Given the description of an element on the screen output the (x, y) to click on. 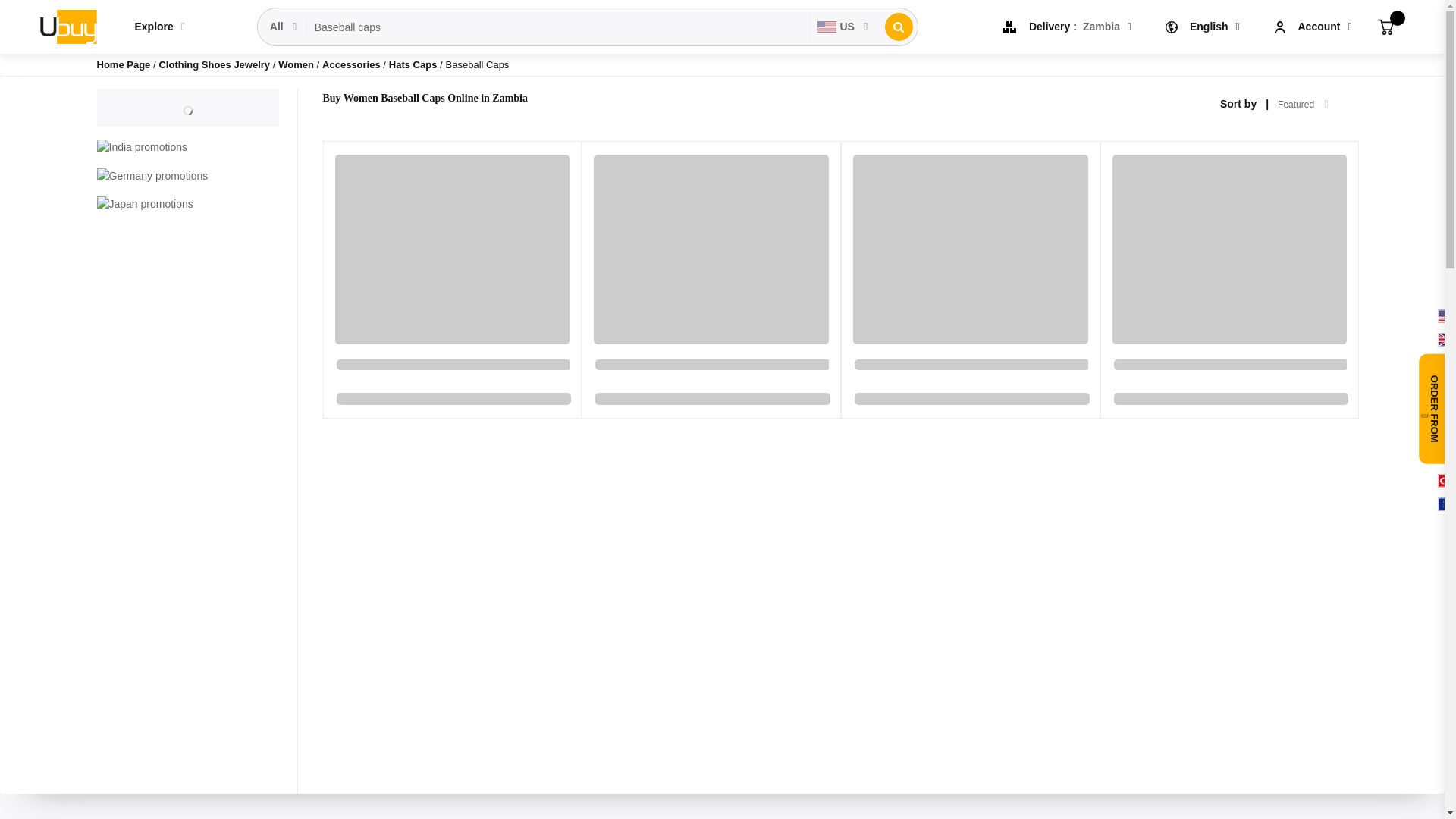
Baseball caps (558, 26)
US (842, 26)
Clothing Shoes Jewelry (215, 64)
Clothing Shoes Jewelry (215, 64)
All (283, 26)
Ubuy (67, 26)
Home Page (124, 64)
Baseball caps (558, 26)
Home Page (124, 64)
Cart (1385, 26)
